Given the description of an element on the screen output the (x, y) to click on. 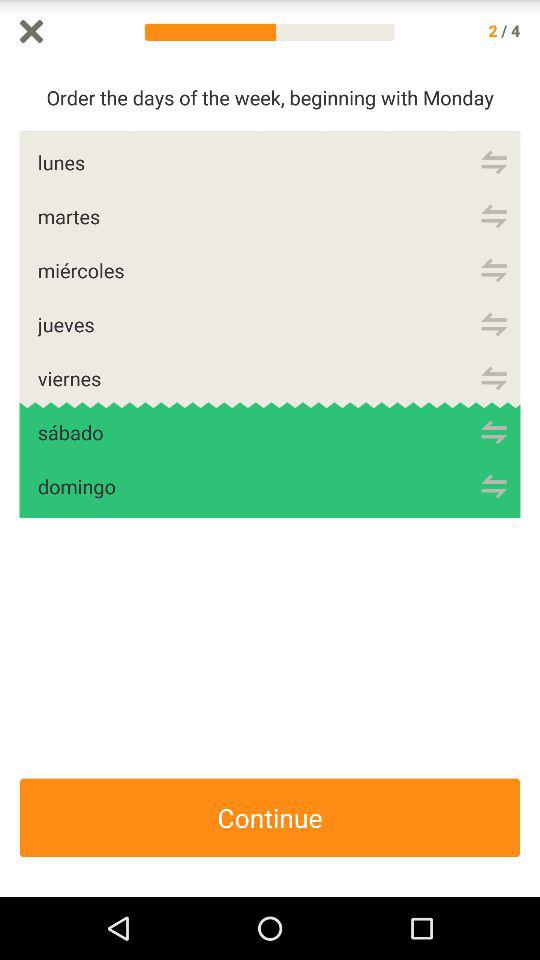
go to sabado or saturday (494, 432)
